Given the description of an element on the screen output the (x, y) to click on. 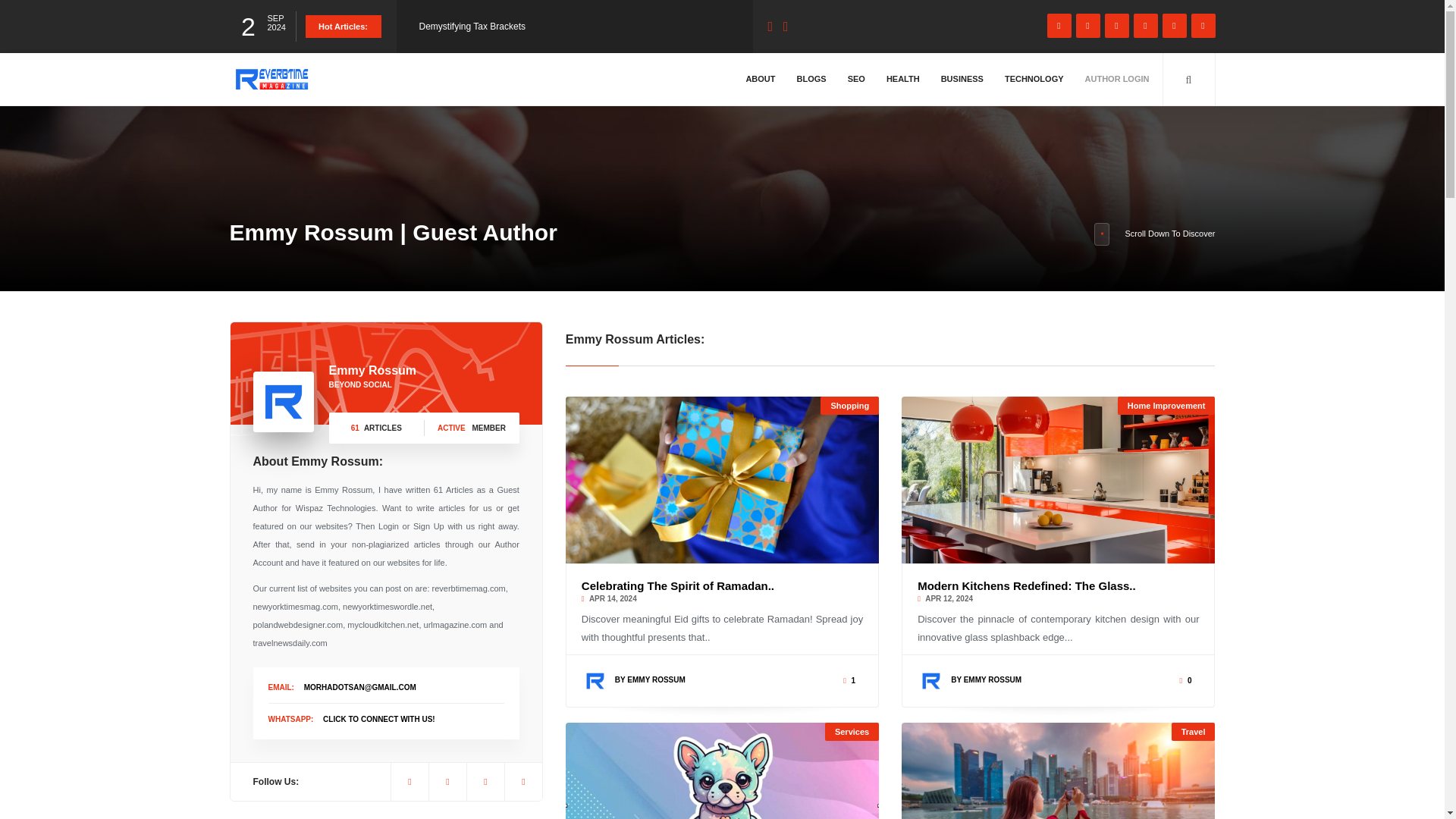
CLICK TO CONNECT WITH US! (379, 718)
Modern Kitchens Redefined: The Glass Splashback Edge (1057, 479)
HEALTH (902, 79)
TECHNOLOGY (1033, 79)
Shopping (850, 405)
ABOUT (759, 79)
Demystifying Tax Brackets (472, 26)
BUSINESS (962, 79)
Celebrating The Spirit of Ramadan.. (677, 585)
